Given the description of an element on the screen output the (x, y) to click on. 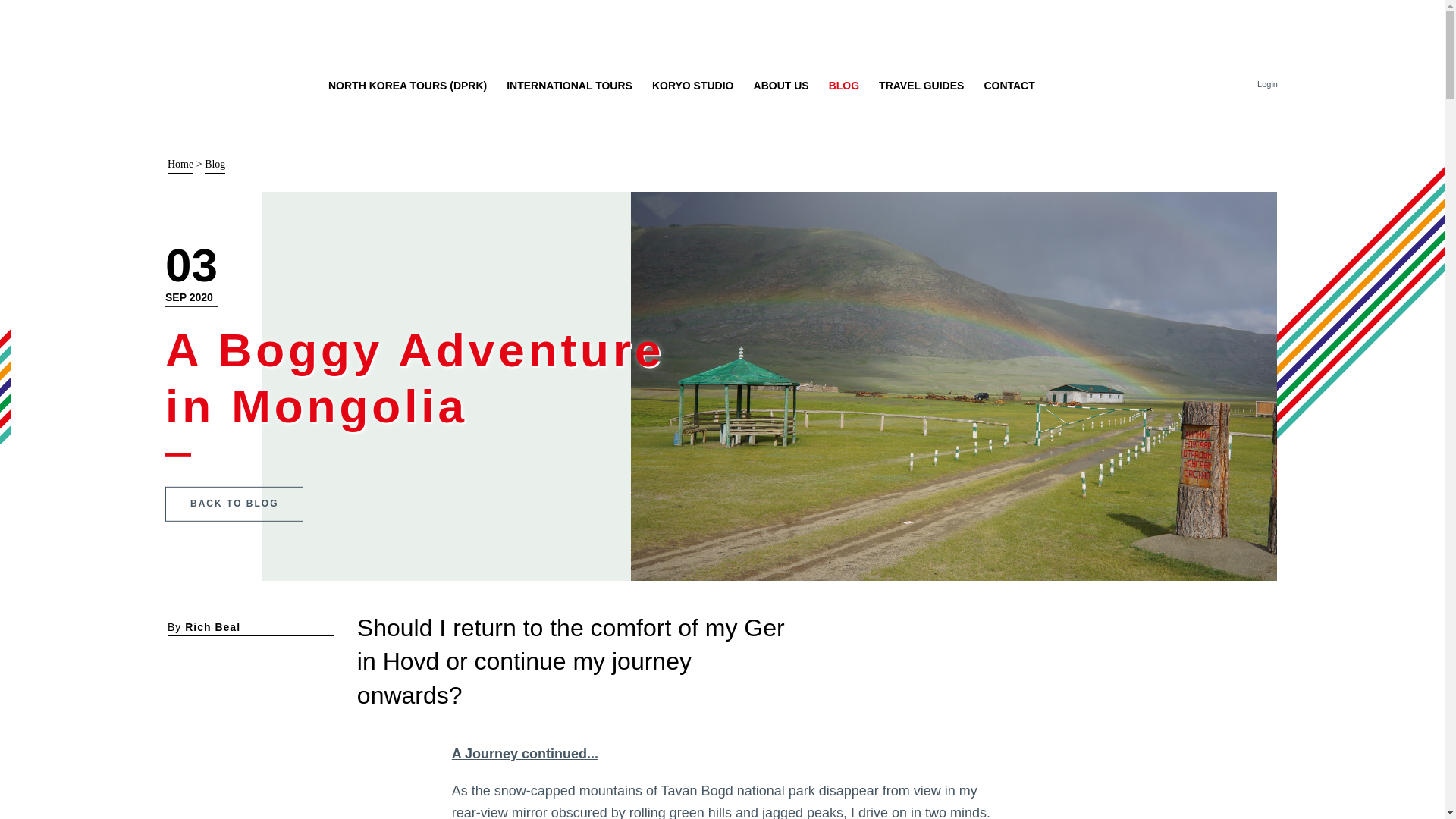
ABOUT US (781, 85)
INTERNATIONAL TOURS (569, 85)
BLOG (843, 85)
KORYO STUDIO (693, 85)
